Given the description of an element on the screen output the (x, y) to click on. 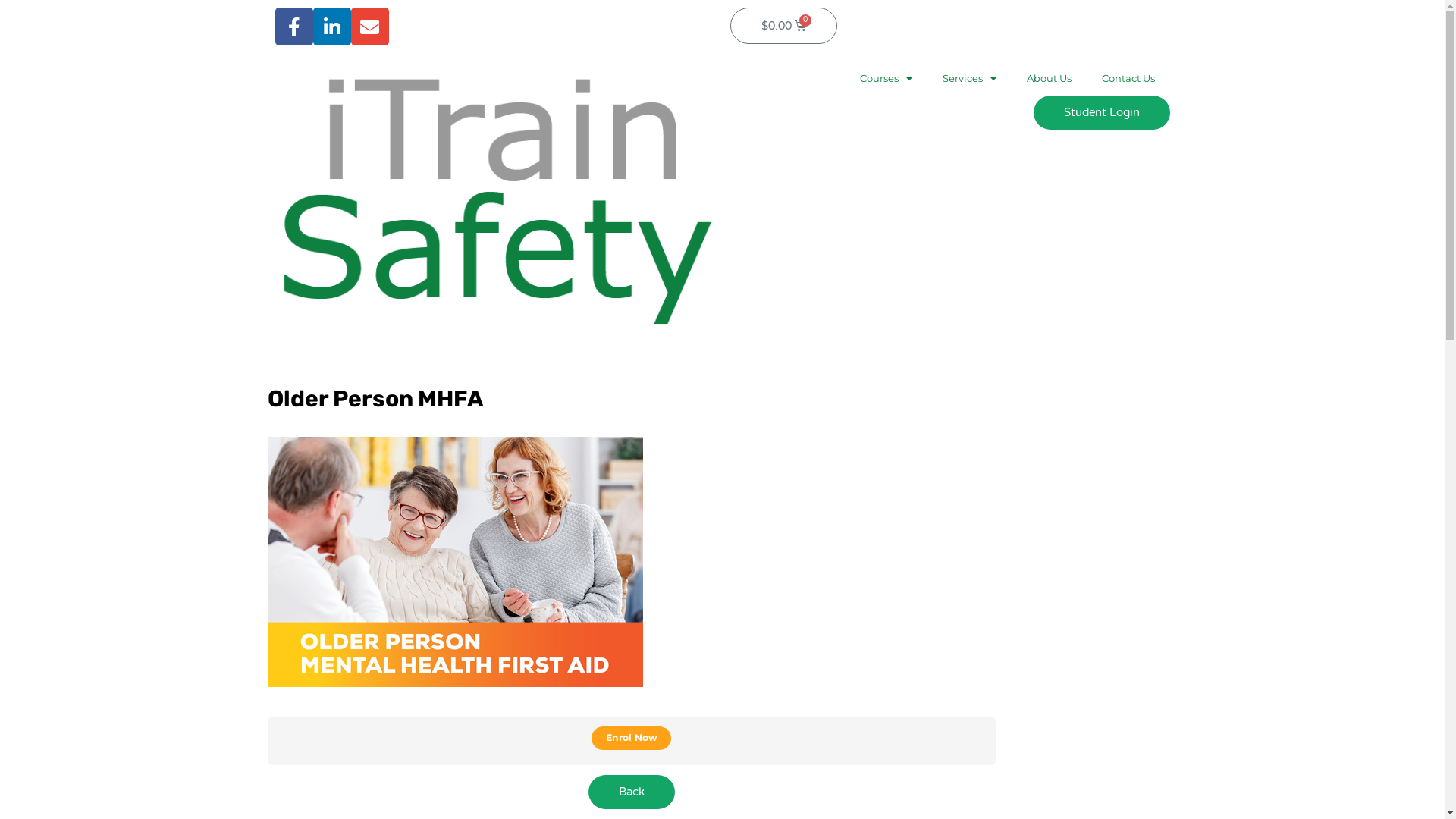
$0.00
0 Element type: text (783, 25)
Services Element type: text (968, 77)
Student Login Element type: text (1100, 112)
Enrol Now Element type: text (631, 738)
About Us Element type: text (1048, 77)
Courses Element type: text (885, 77)
Back Element type: text (631, 792)
Contact Us Element type: text (1127, 77)
